Given the description of an element on the screen output the (x, y) to click on. 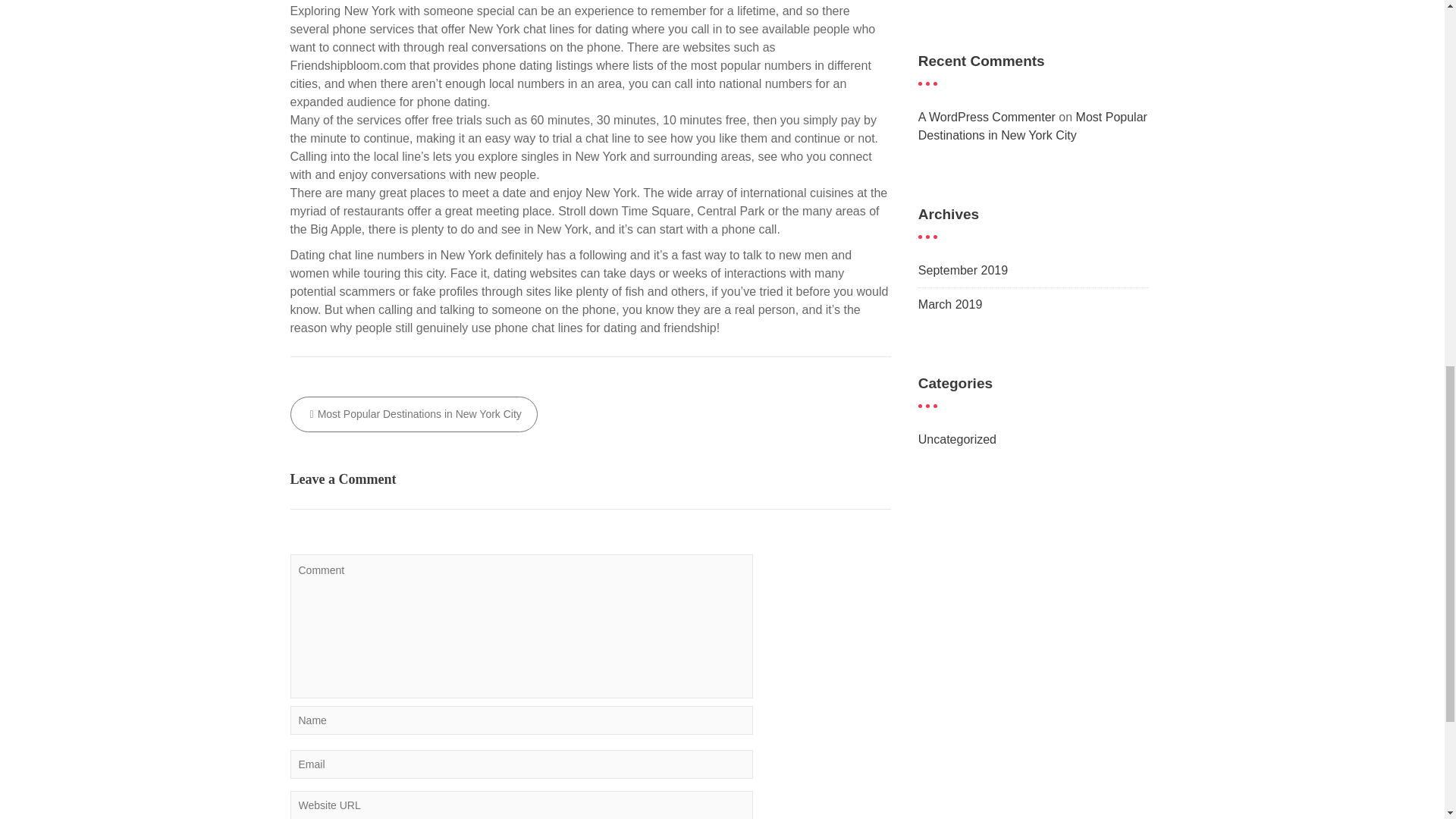
Uncategorized (956, 439)
Most Popular Destinations in New York City (1032, 125)
March 2019 (950, 304)
September 2019 (962, 269)
Most Popular Destinations in New York City (413, 414)
A WordPress Commenter (986, 116)
